Given the description of an element on the screen output the (x, y) to click on. 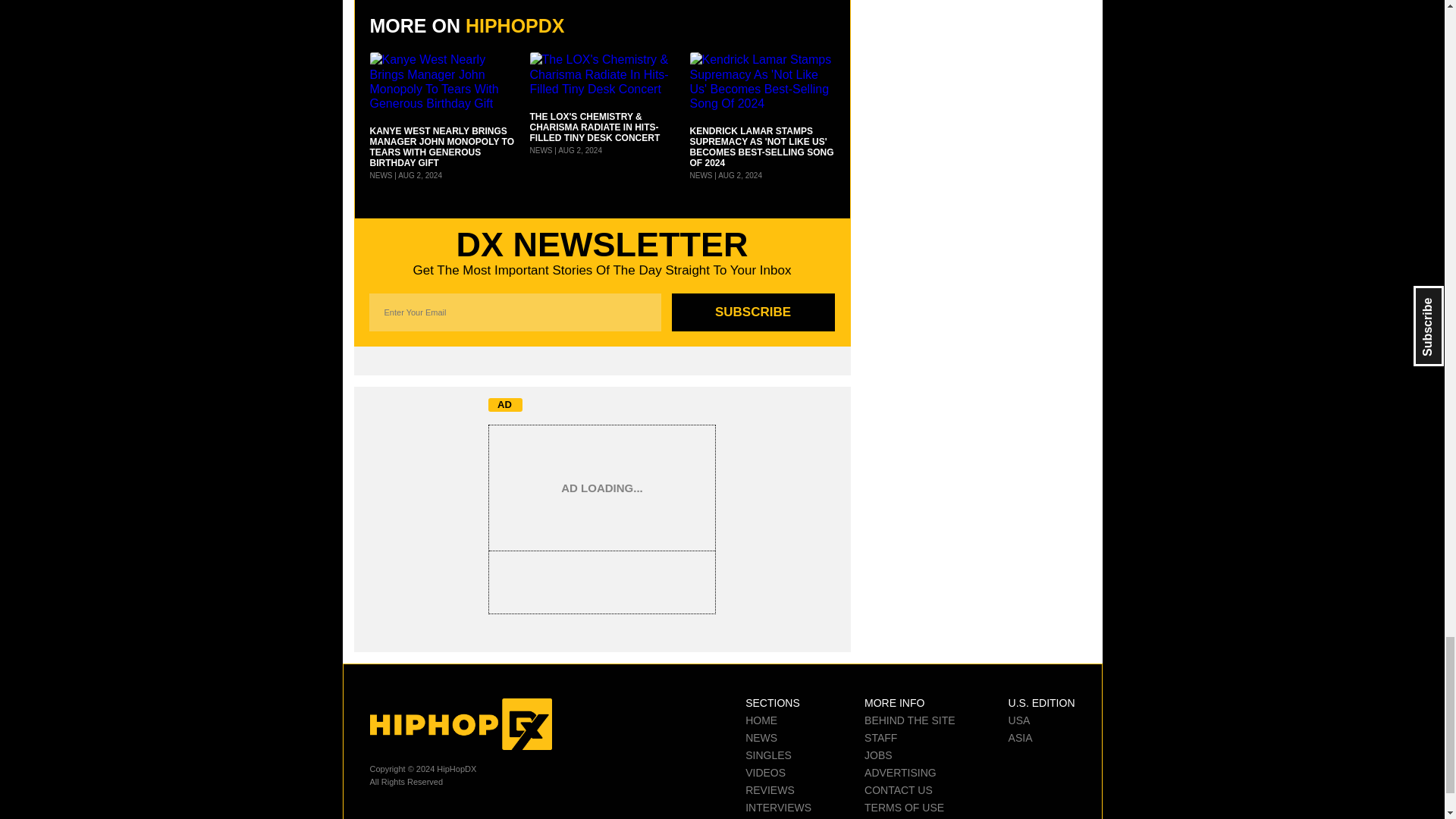
HipHopDX (460, 724)
